Given the description of an element on the screen output the (x, y) to click on. 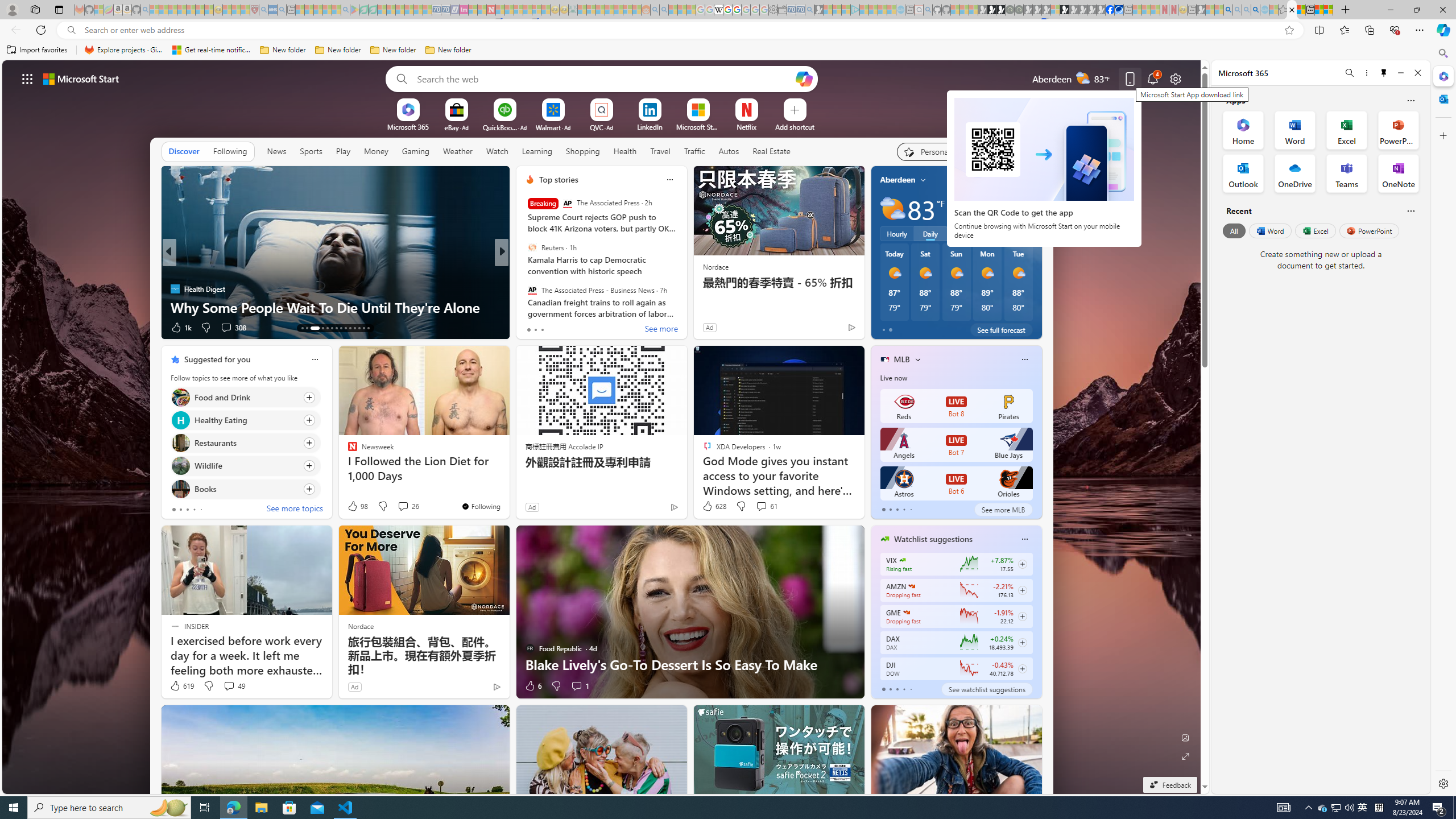
98 Like (357, 505)
See more topics (294, 509)
Wildlife (180, 466)
Class: icon-img (1024, 538)
